Given the description of an element on the screen output the (x, y) to click on. 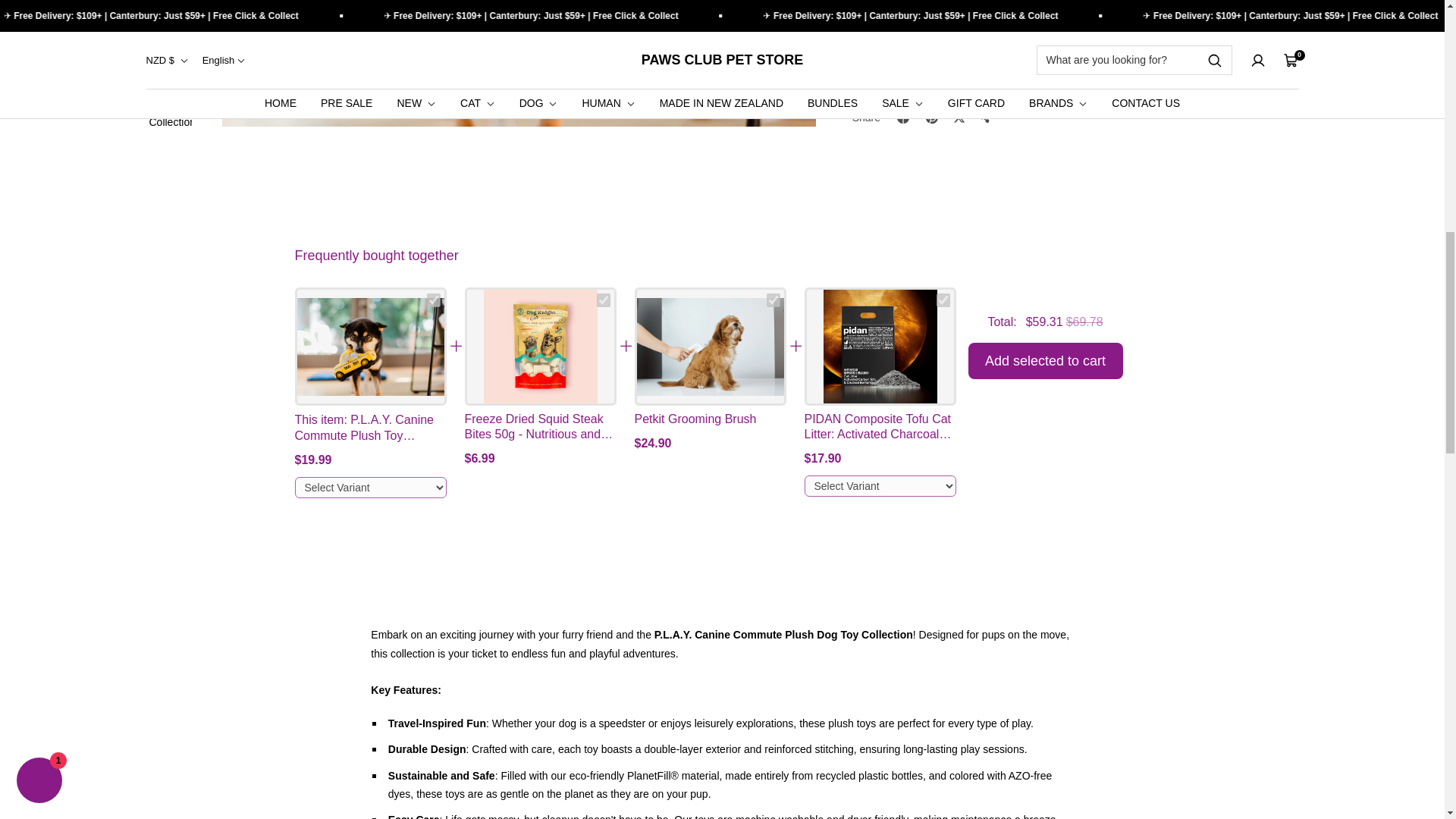
on (942, 300)
on (602, 300)
on (432, 300)
on (771, 300)
